Given the description of an element on the screen output the (x, y) to click on. 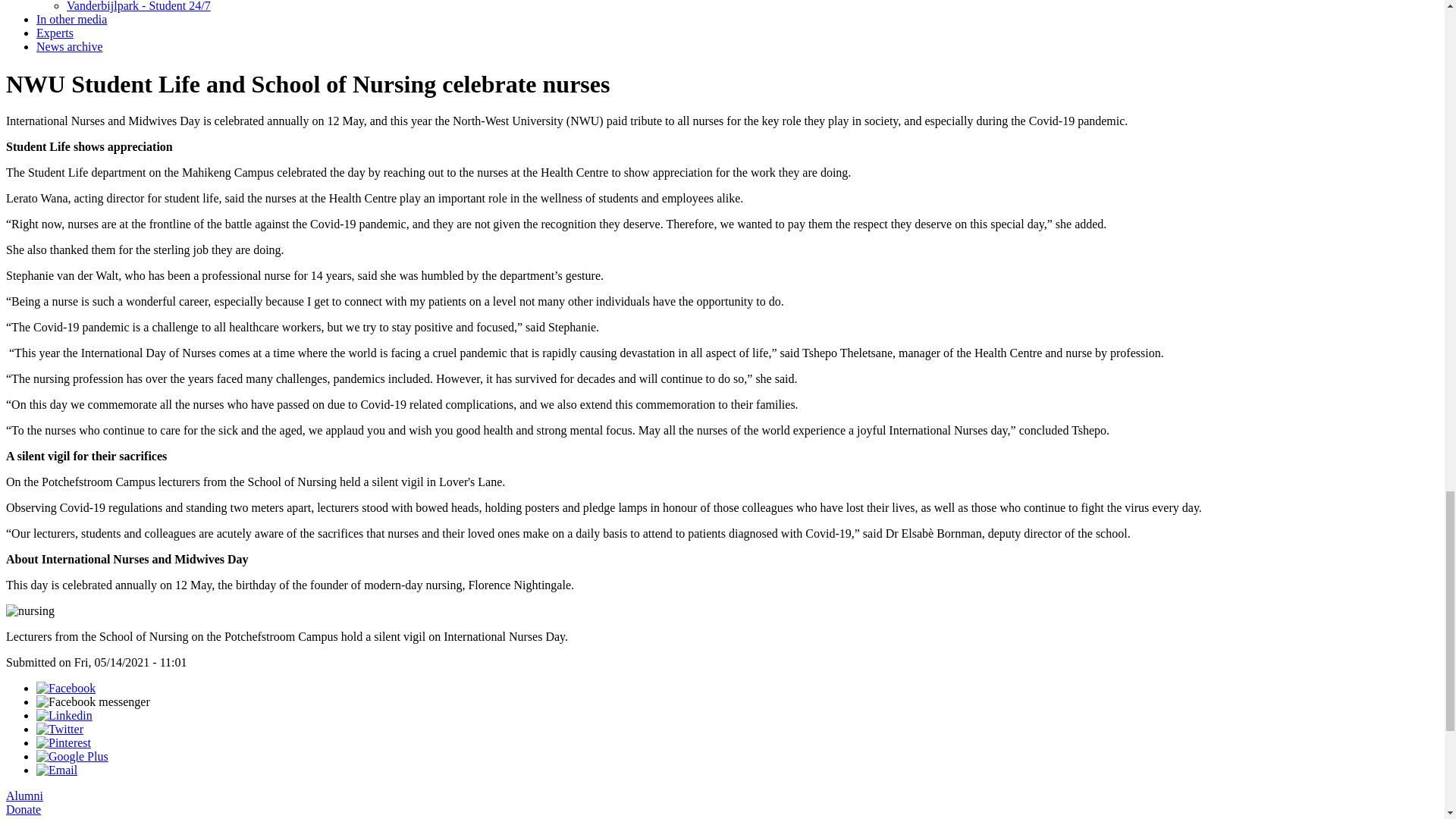
Facebook messenger (92, 701)
Google Plus (71, 756)
Pinterest (63, 742)
Email (56, 769)
Linkedin (64, 715)
Twitter (59, 728)
Facebook (66, 687)
